Given the description of an element on the screen output the (x, y) to click on. 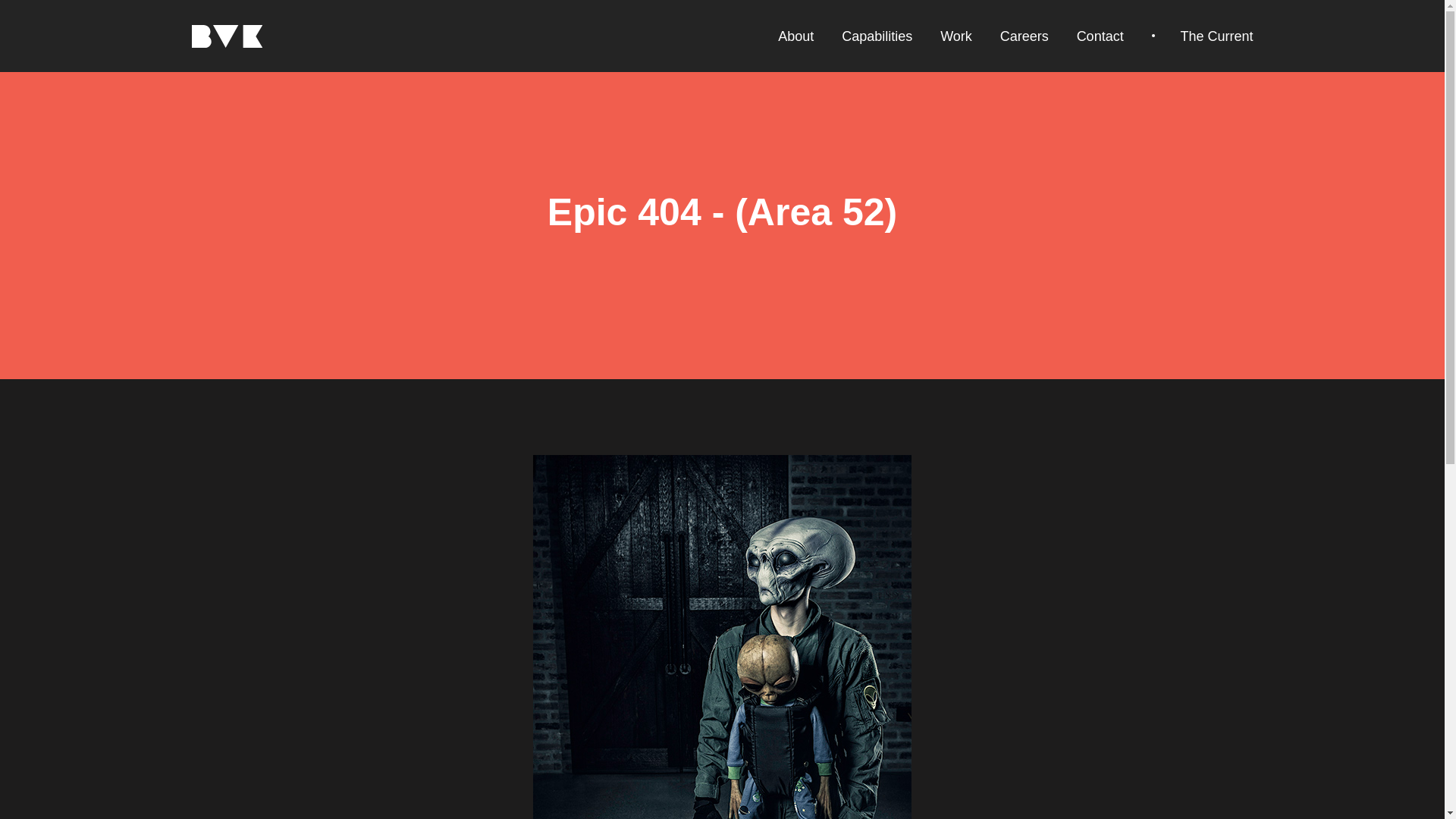
The Current (1215, 36)
Work (956, 36)
Capabilities (876, 36)
Contact (1100, 36)
Careers (1024, 36)
About (795, 36)
